Given the description of an element on the screen output the (x, y) to click on. 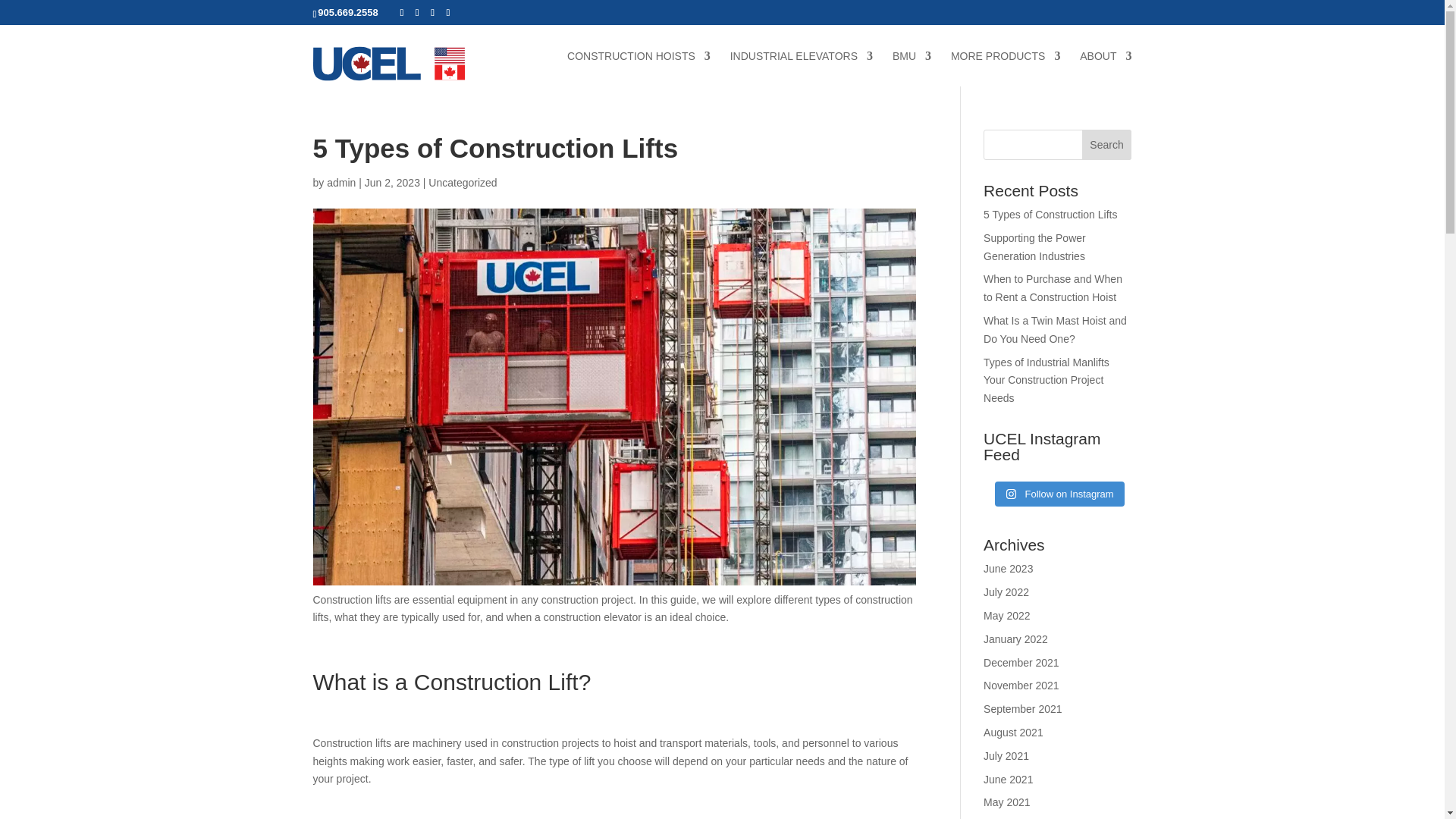
INDUSTRIAL ELEVATORS (801, 67)
BMU (911, 67)
CONSTRUCTION HOISTS (638, 67)
Posts by admin (340, 182)
MORE PRODUCTS (1004, 67)
ABOUT (1105, 67)
Search (1106, 144)
